Given the description of an element on the screen output the (x, y) to click on. 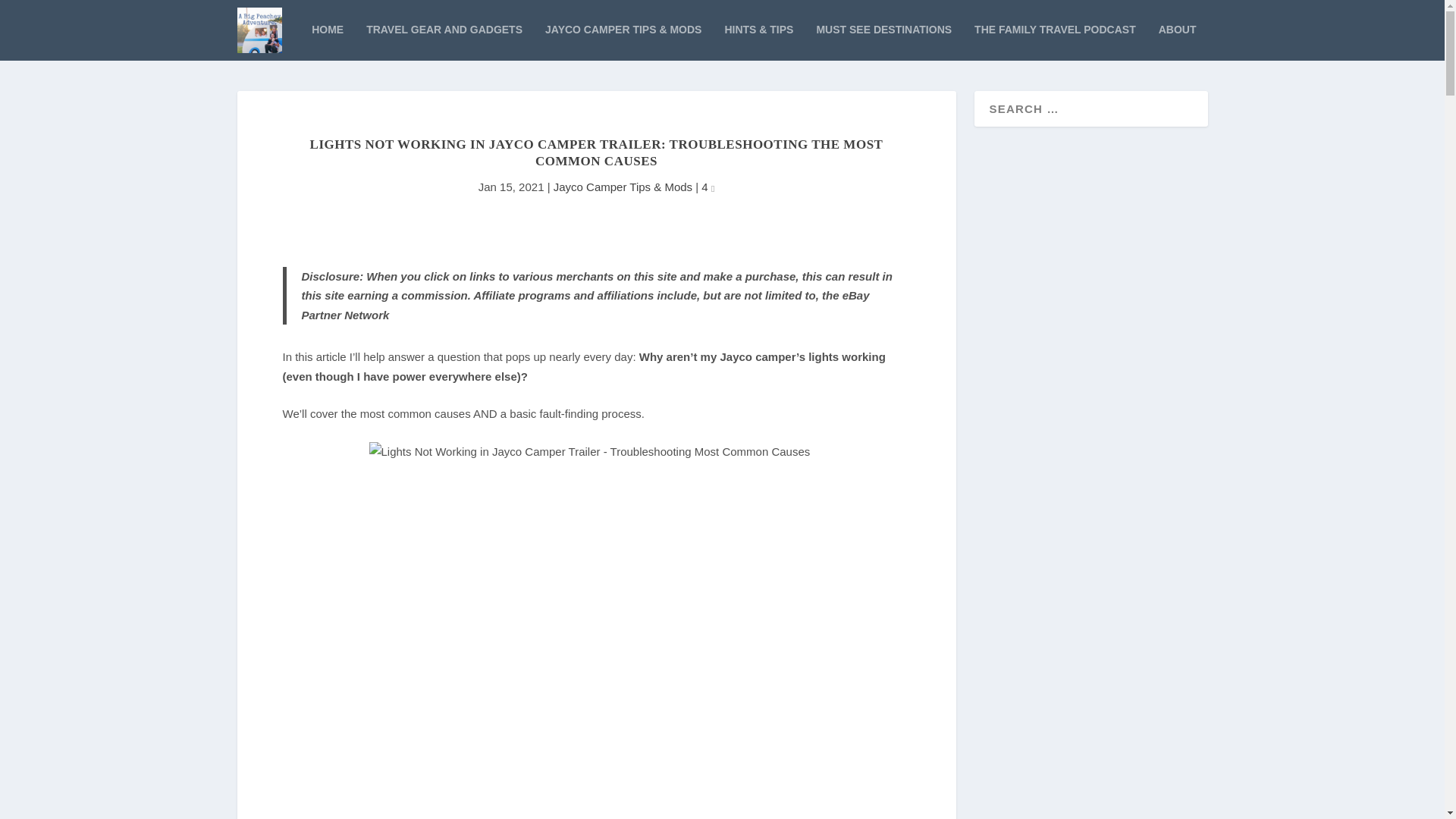
THE FAMILY TRAVEL PODCAST (1054, 41)
Search (32, 13)
ABOUT (1177, 41)
TRAVEL GEAR AND GADGETS (444, 41)
MUST SEE DESTINATIONS (883, 41)
4 (707, 186)
